Given the description of an element on the screen output the (x, y) to click on. 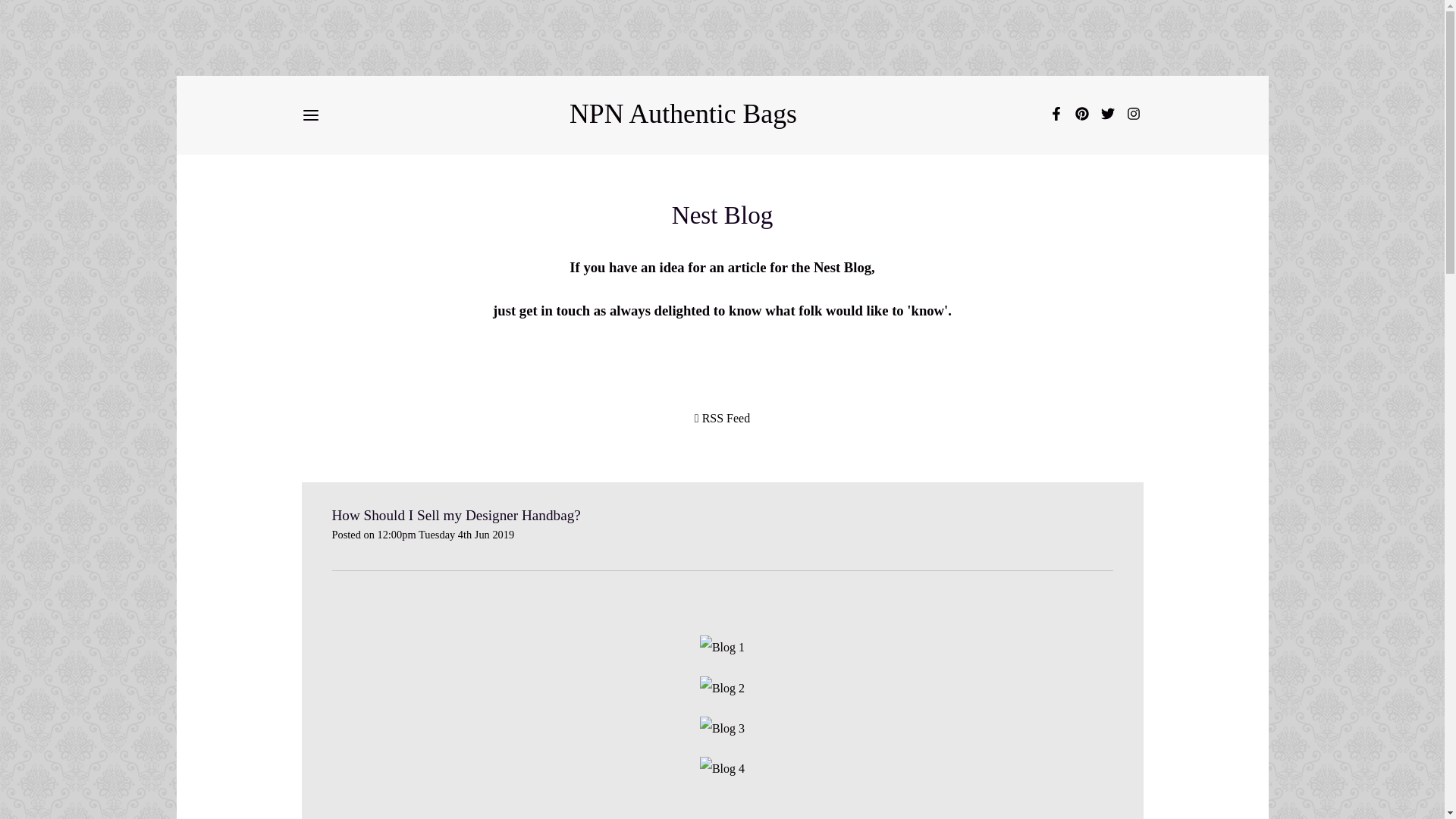
facebook (1055, 115)
 RSS Feed (721, 418)
Blog 1 (722, 647)
twitter (1107, 115)
NPN Authentic Bags (682, 113)
get in touch (554, 310)
pinterest (1081, 115)
Blog 3 (722, 728)
instagram (1133, 115)
Blog 2 (722, 688)
NPN Authentic Bags (682, 114)
Blog 4 (722, 768)
